Given the description of an element on the screen output the (x, y) to click on. 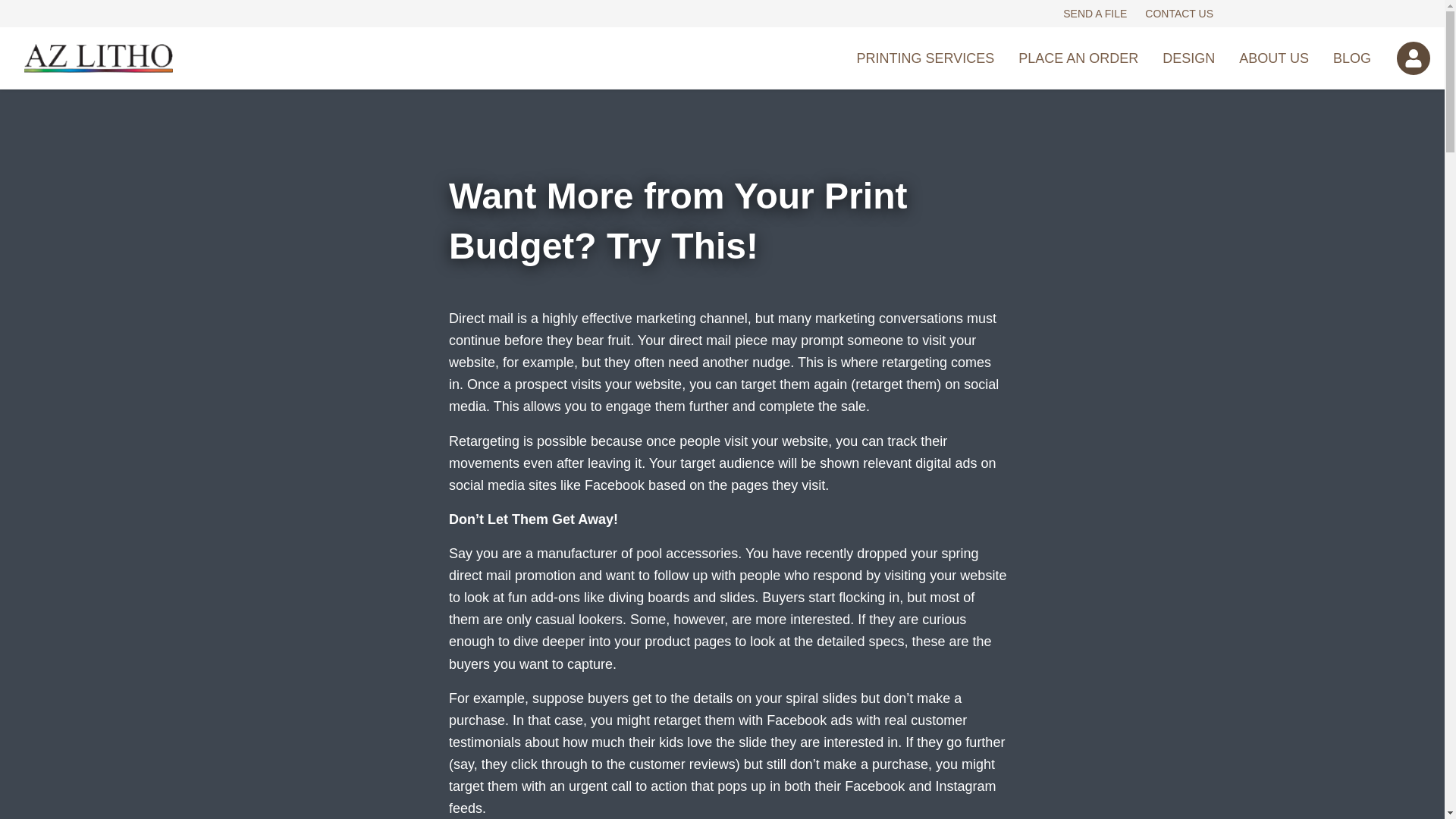
portal login (1412, 58)
CONTACT US (1178, 13)
BLOG (1351, 58)
PLACE AN ORDER (1077, 58)
ABOUT US (1273, 58)
SEND A FILE (1094, 13)
PRINTING SERVICES (925, 58)
DESIGN (1188, 58)
